Given the description of an element on the screen output the (x, y) to click on. 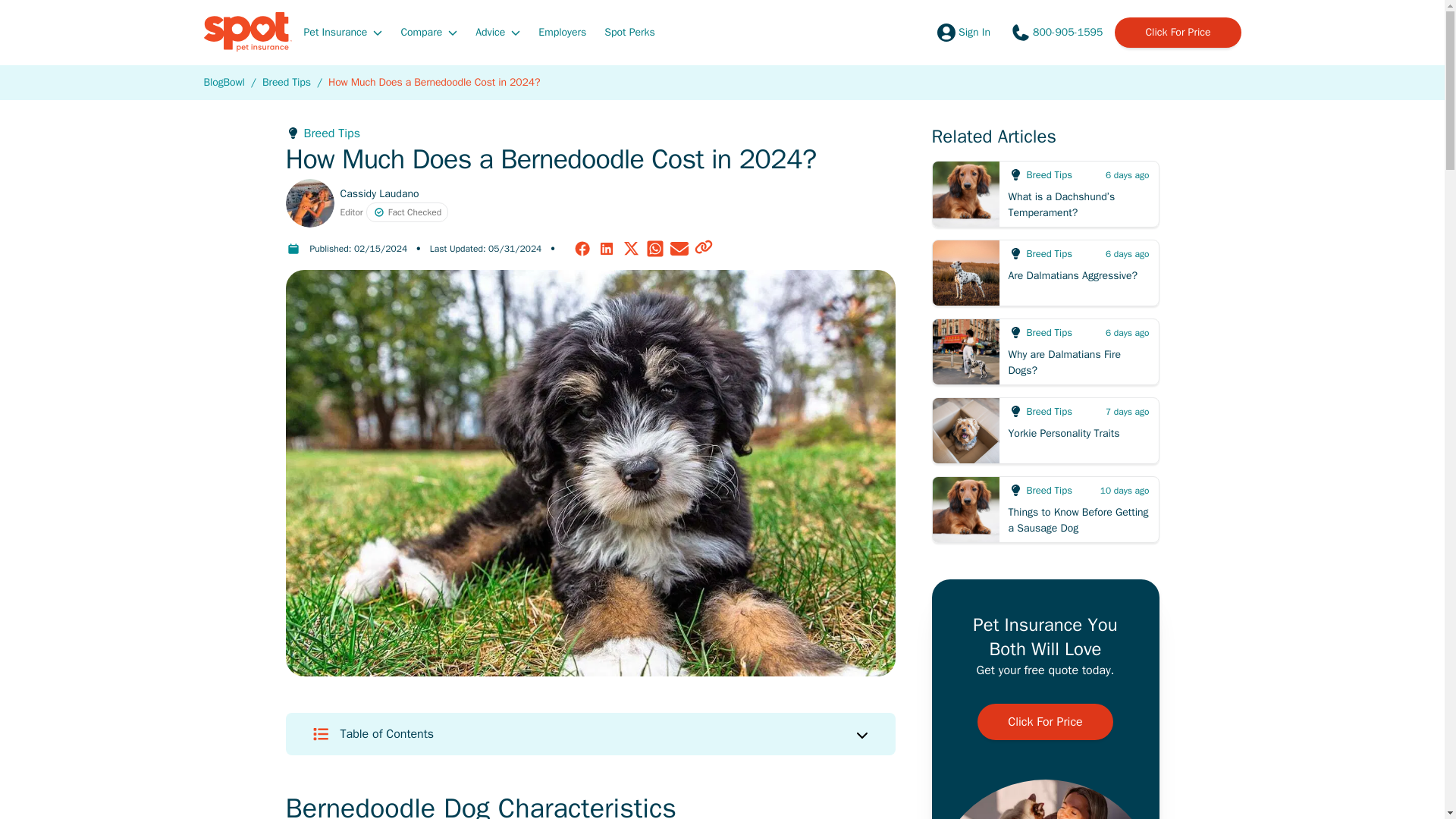
800-905-1595 (1055, 31)
BlogBowl (223, 82)
Sign In (962, 31)
Employers (562, 31)
Yorkie Personality Traits (1044, 430)
Things to Know Before Getting a Sausage Dog (1044, 508)
Click For Price (1177, 31)
Cassidy Laudano (379, 193)
800-905-1595 (1055, 31)
Breed Tips (590, 133)
Spot Perks (629, 31)
Sign in to the Member Center (962, 31)
Breed Tips (286, 82)
Copy URL (703, 248)
How Much Does a Bernedoodle Cost in 2024? (434, 82)
